Given the description of an element on the screen output the (x, y) to click on. 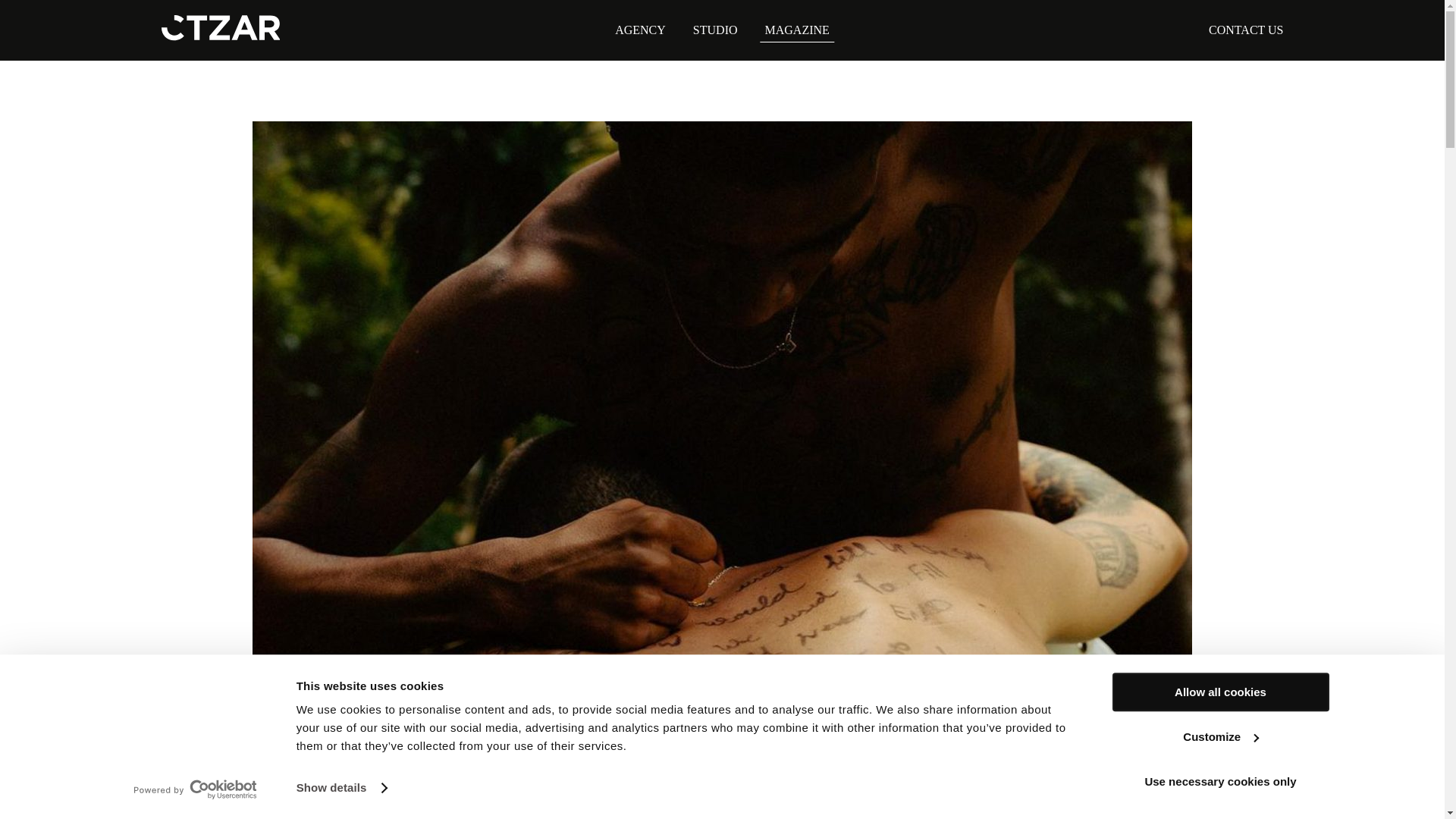
Use necessary cookies only (1219, 781)
Customize (1219, 736)
Allow all cookies (1219, 691)
Show details (341, 787)
